Given the description of an element on the screen output the (x, y) to click on. 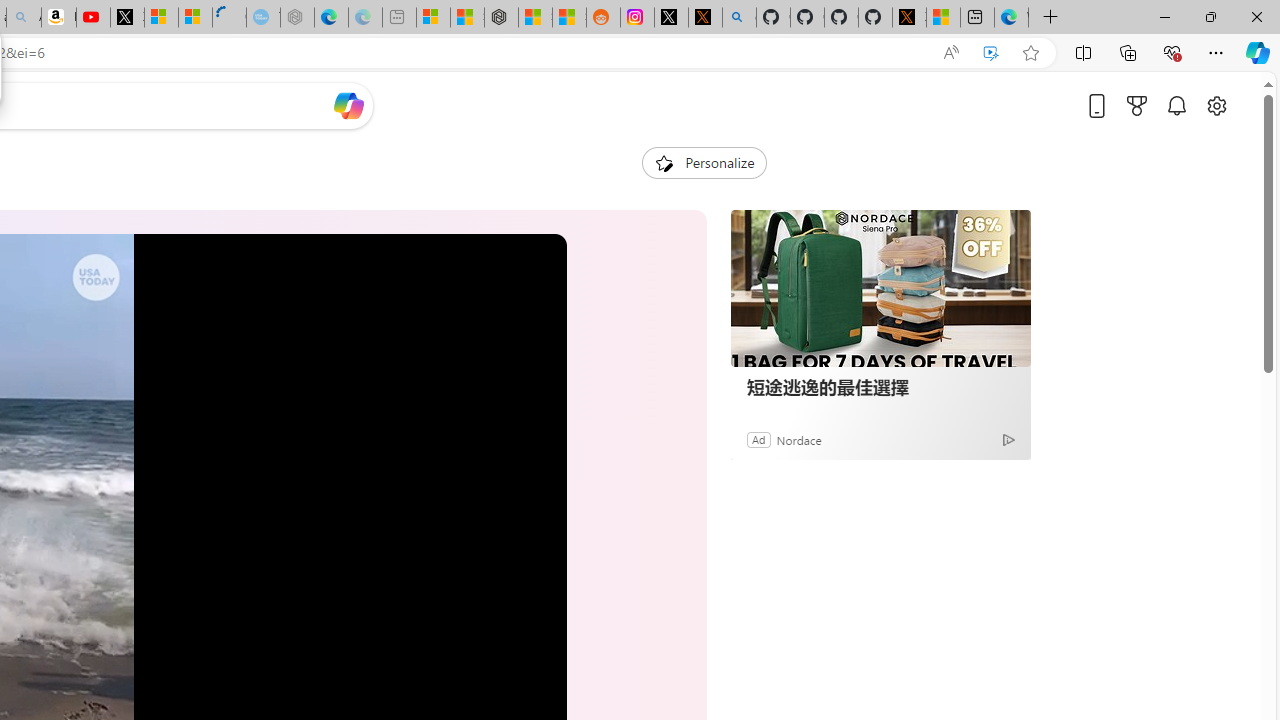
Nordace - Nordace has arrived Hong Kong - Sleeping (296, 17)
Personalize (703, 162)
Opinion: Op-Ed and Commentary - USA TODAY (228, 17)
Welcome to Microsoft Edge (1010, 17)
